Given the description of an element on the screen output the (x, y) to click on. 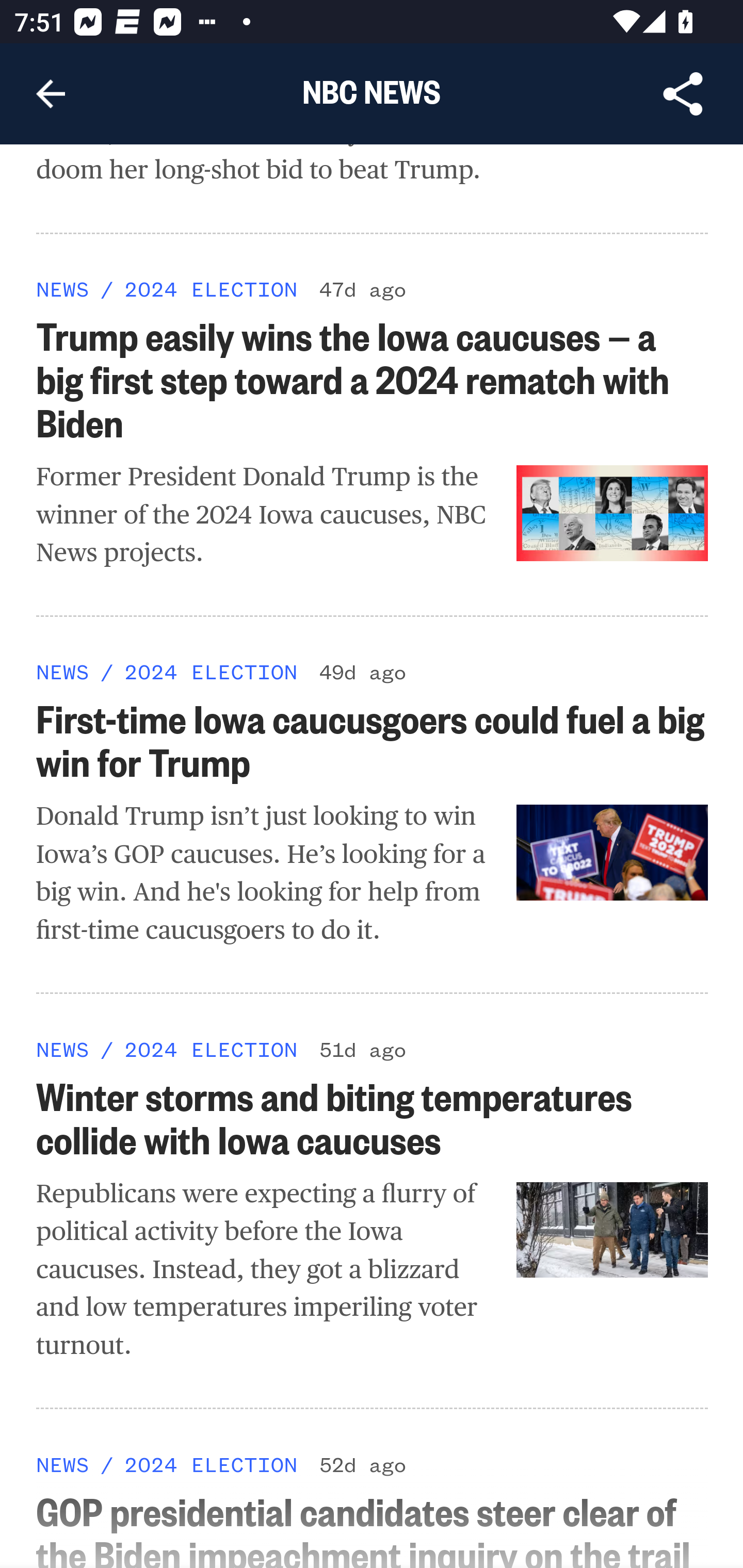
Navigate up (50, 93)
Share Article, button (683, 94)
NEWS NEWS NEWS (63, 288)
2024 ELECTION 2024 ELECTION 2024 ELECTION (209, 288)
NEWS NEWS NEWS (63, 671)
2024 ELECTION 2024 ELECTION 2024 ELECTION (209, 671)
NEWS NEWS NEWS (63, 1048)
2024 ELECTION 2024 ELECTION 2024 ELECTION (209, 1048)
NEWS NEWS NEWS (63, 1464)
2024 ELECTION 2024 ELECTION 2024 ELECTION (209, 1464)
